Given the description of an element on the screen output the (x, y) to click on. 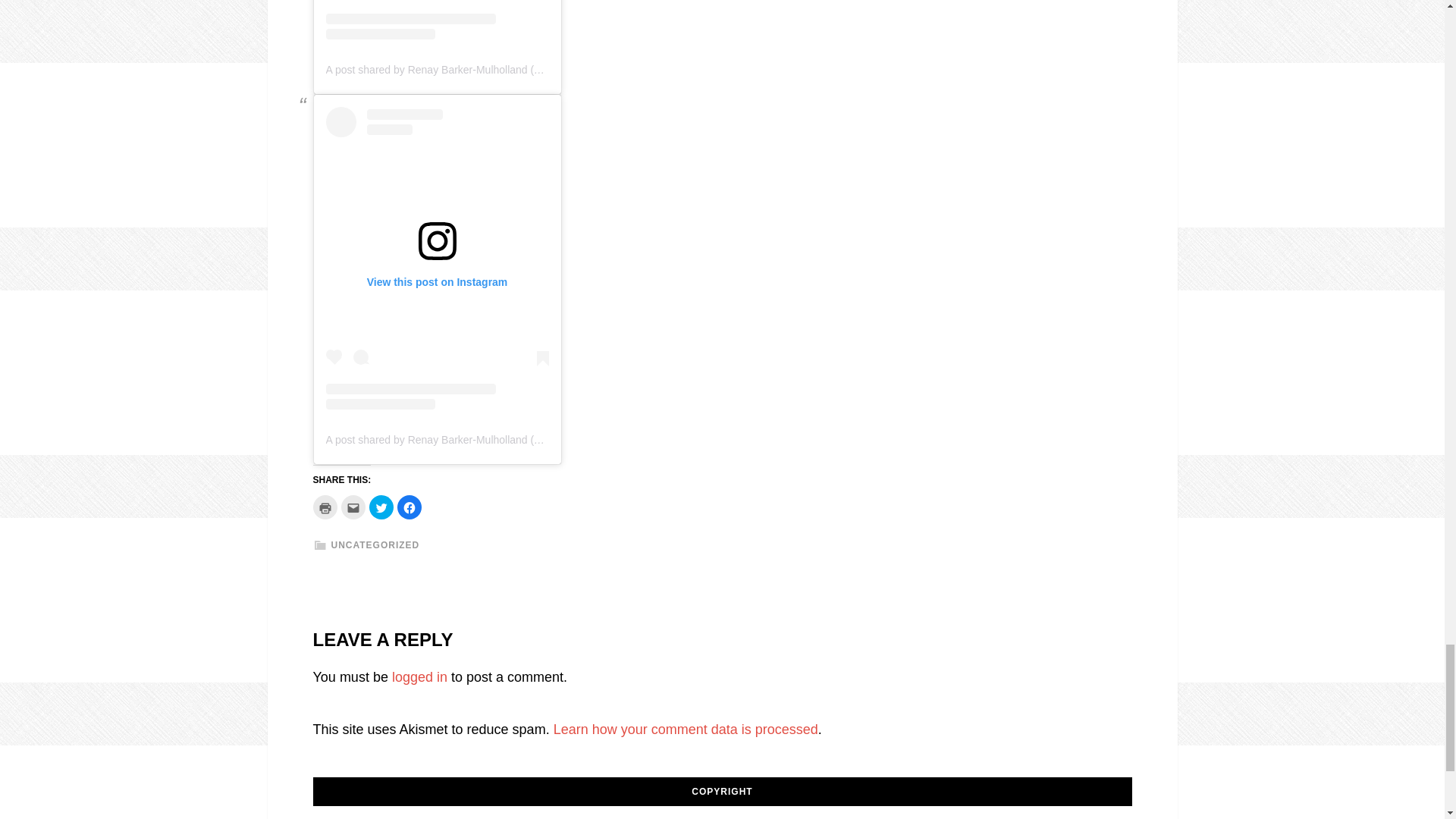
Learn how your comment data is processed (685, 729)
UNCATEGORIZED (374, 544)
Click to share on Twitter (380, 507)
Click to print (324, 507)
Click to email this to a friend (352, 507)
logged in (418, 676)
View this post on Instagram (437, 19)
Click to share on Facebook (409, 507)
